Given the description of an element on the screen output the (x, y) to click on. 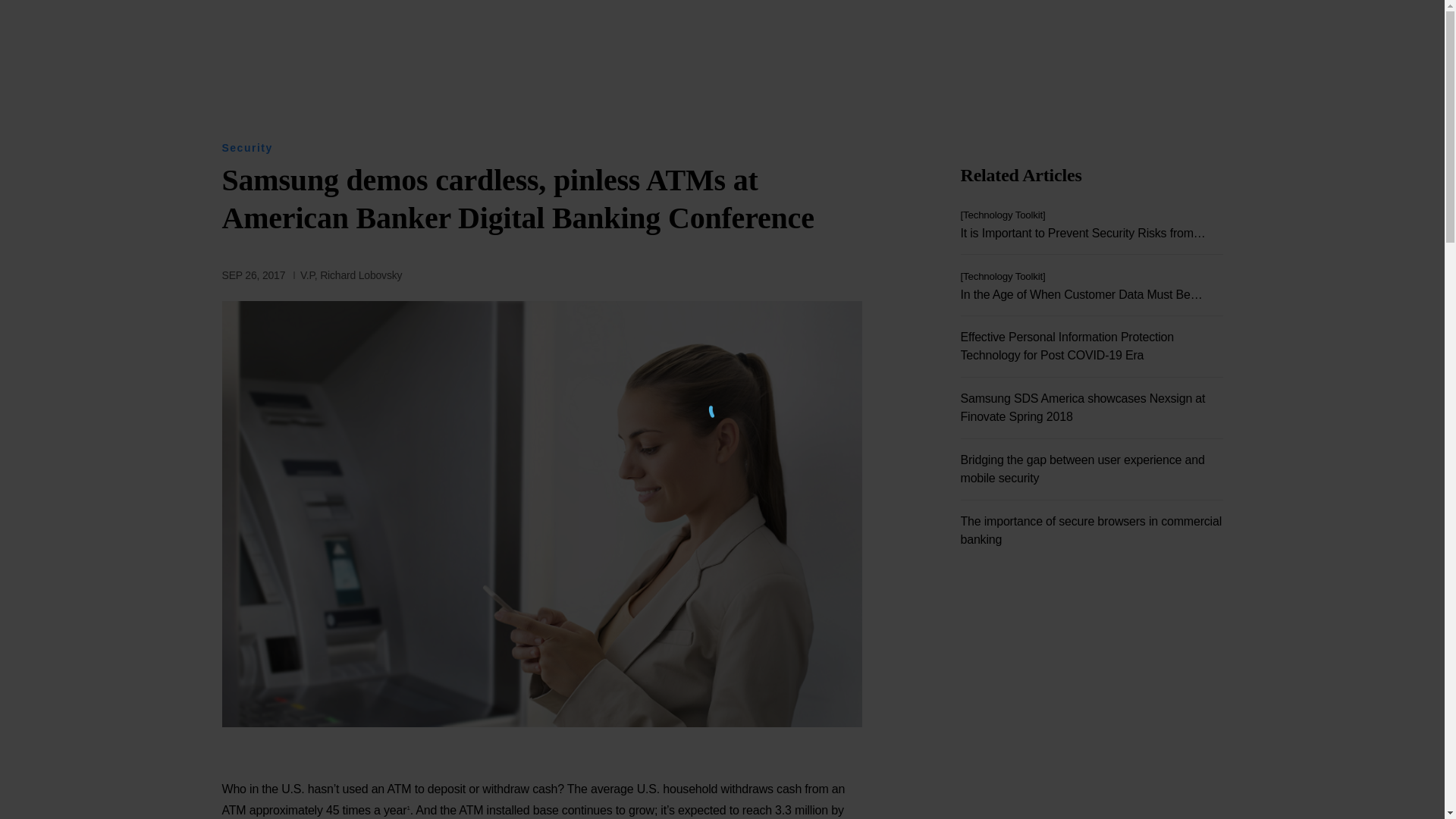
The importance of secure browsers in commercial banking (1091, 530)
Bridging the gap between user experience and mobile security (1091, 469)
Security (246, 147)
